Given the description of an element on the screen output the (x, y) to click on. 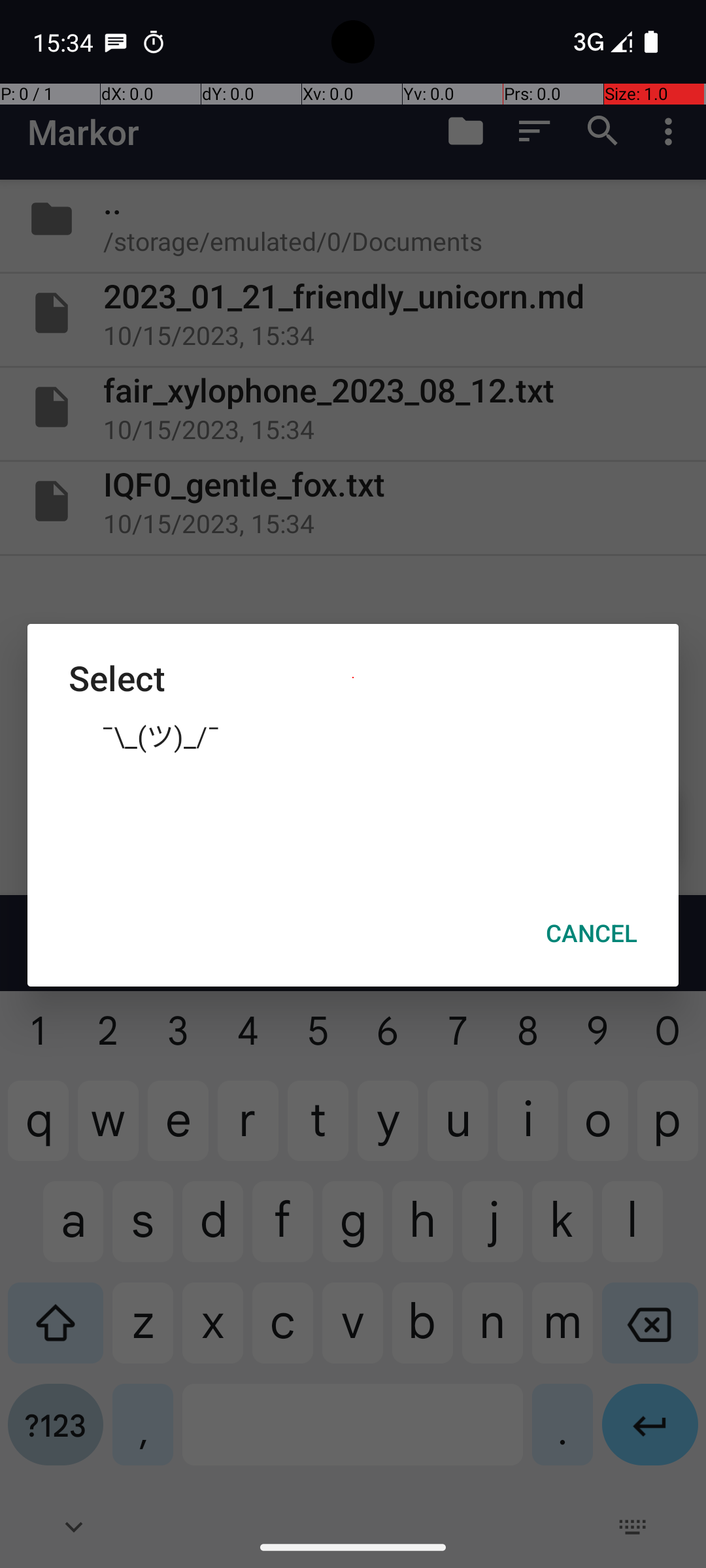
     ¯\_(ツ)_/¯      Element type: android.widget.TextView (352, 734)
